Given the description of an element on the screen output the (x, y) to click on. 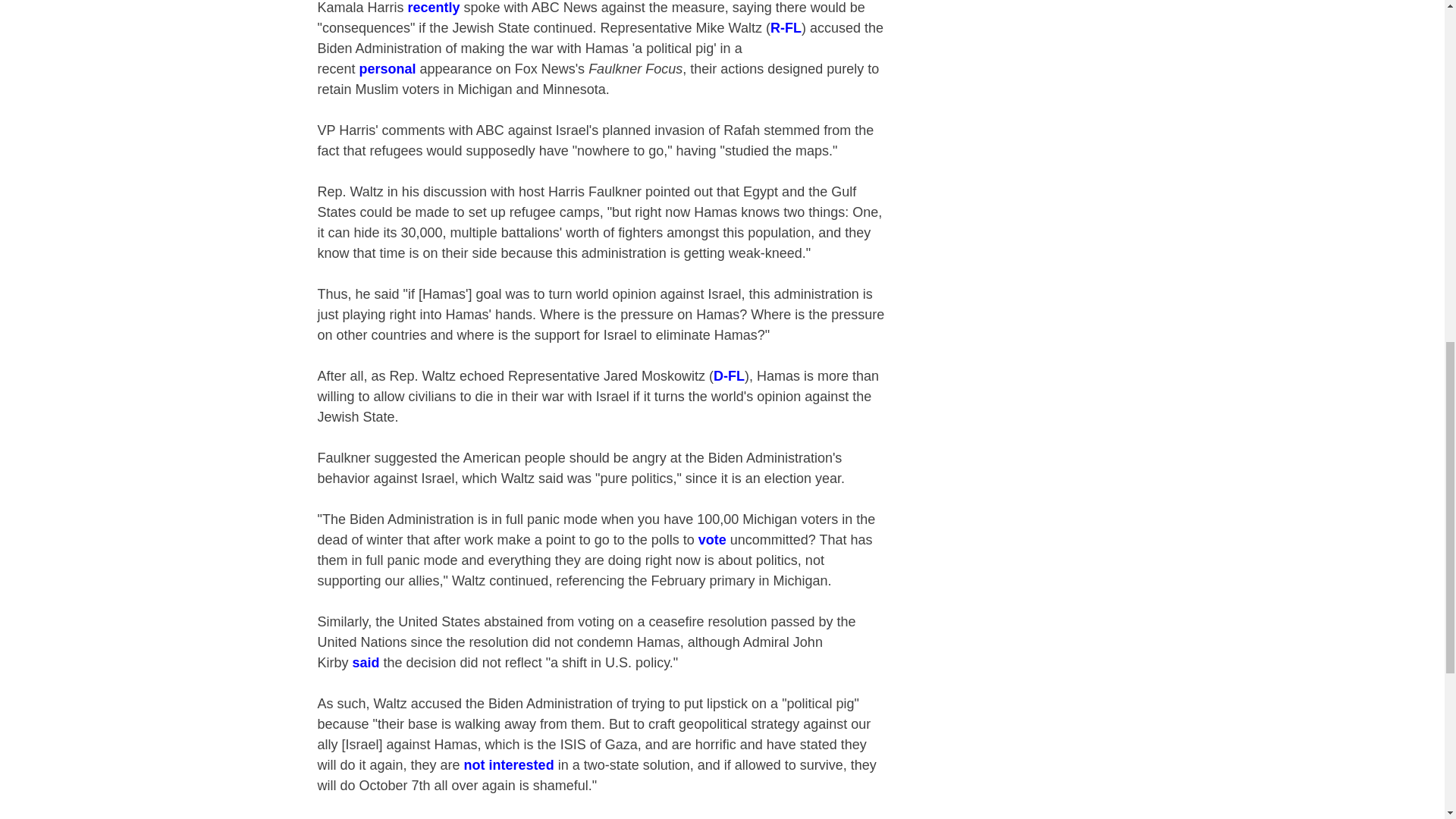
personal (387, 68)
D-FL (728, 376)
Search (1138, 419)
not interested (509, 765)
Search (1138, 419)
R-FL (786, 28)
said (366, 662)
vote (712, 539)
Search (1138, 419)
recently (433, 7)
